Given the description of an element on the screen output the (x, y) to click on. 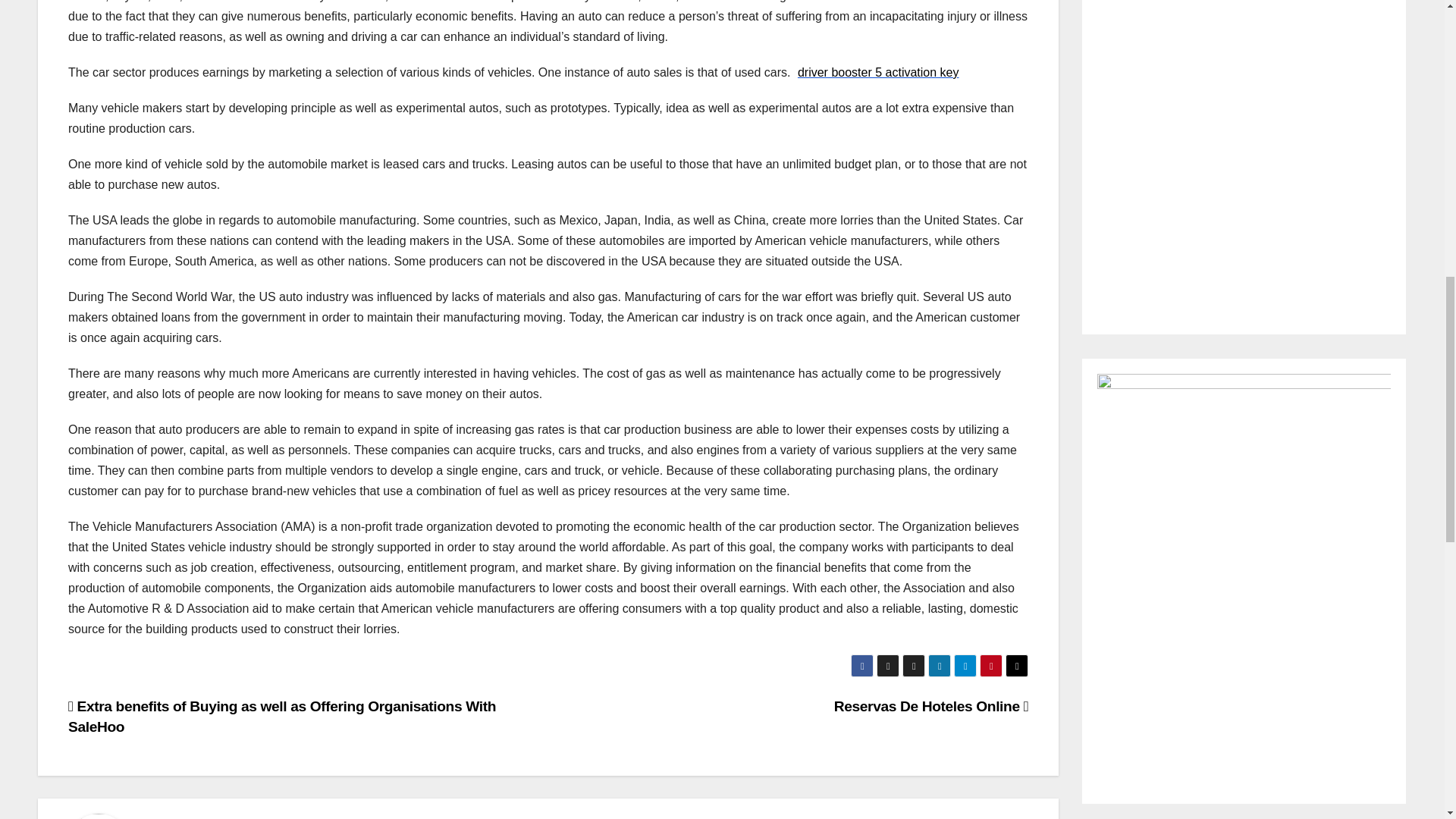
driver booster 5 activation key (877, 72)
Reservas De Hoteles Online (930, 706)
